Given the description of an element on the screen output the (x, y) to click on. 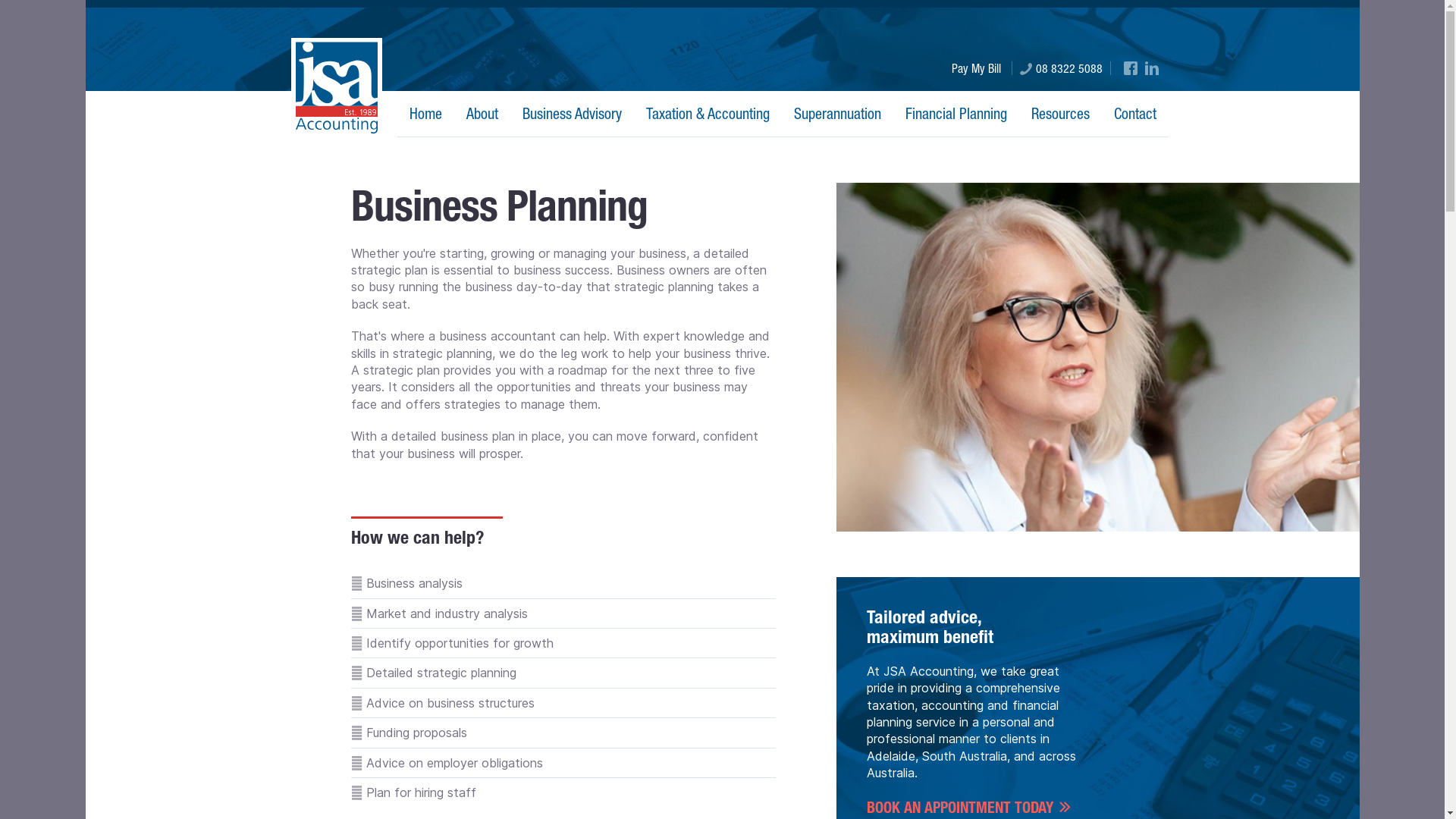
About Element type: text (482, 113)
Contact Element type: text (1134, 113)
Business Advisory Element type: text (571, 113)
Superannuation Element type: text (837, 113)
JSA Accounting on Facebook. Element type: hover (1130, 68)
Financial Planning Element type: text (956, 113)
JSA Accounting on LinkedIn. Element type: hover (1151, 68)
Taxation & Accounting Element type: text (707, 113)
BOOK AN APPOINTMENT TODAY Element type: text (968, 807)
08 8322 5088 Element type: text (1060, 68)
Pay My Bill Element type: text (976, 68)
Home Element type: text (425, 113)
Resources Element type: text (1060, 113)
